Given the description of an element on the screen output the (x, y) to click on. 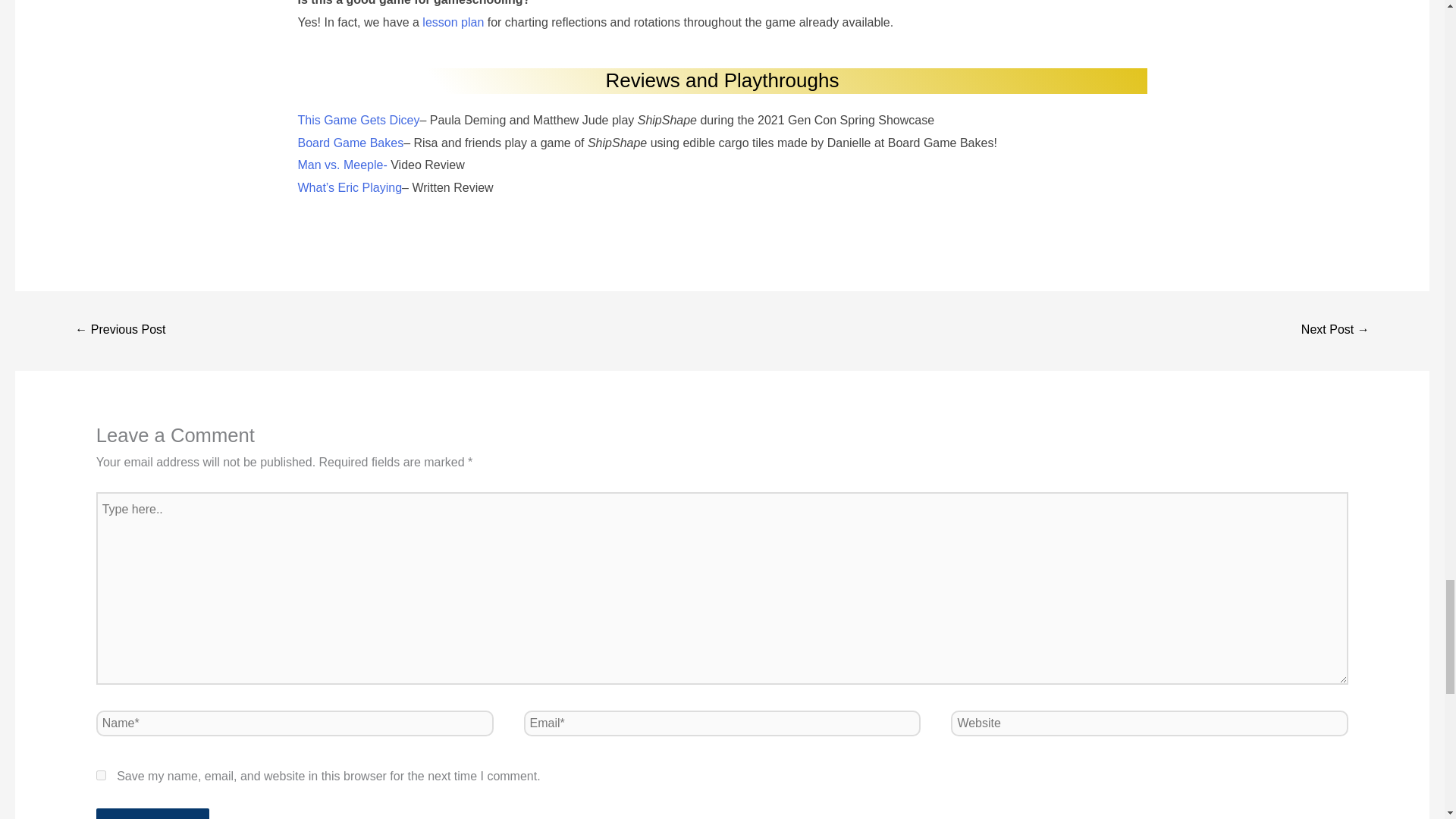
Enchanted Plumes Solo Mode Variant (119, 330)
Everything You Need to Know About The Mansky Caper! (1334, 330)
This Game Gets Dicey (358, 119)
yes (101, 775)
lesson plan (452, 21)
